Given the description of an element on the screen output the (x, y) to click on. 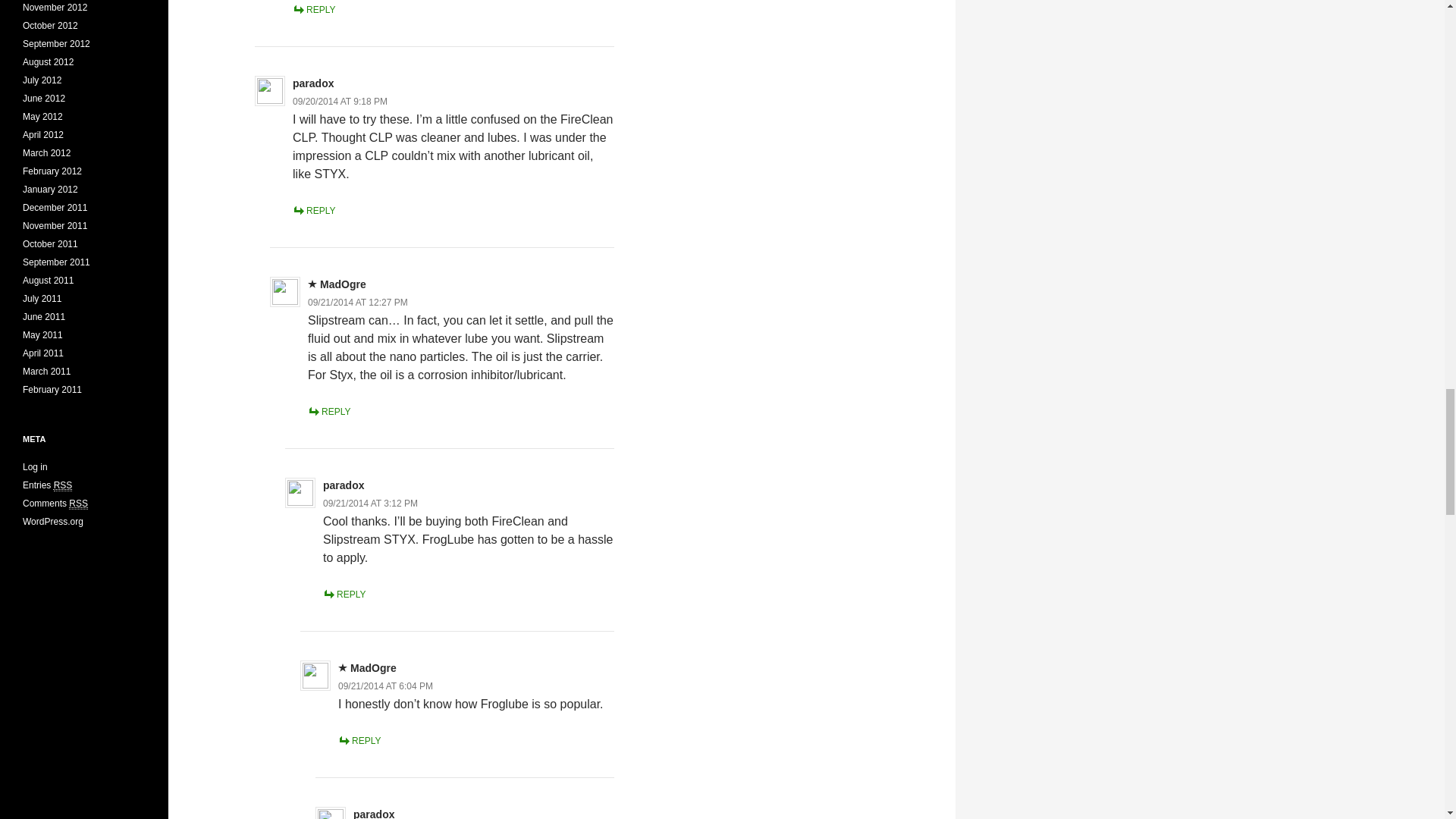
REPLY (313, 210)
Really Simple Syndication (77, 503)
REPLY (328, 411)
REPLY (313, 9)
Really Simple Syndication (62, 485)
